Given the description of an element on the screen output the (x, y) to click on. 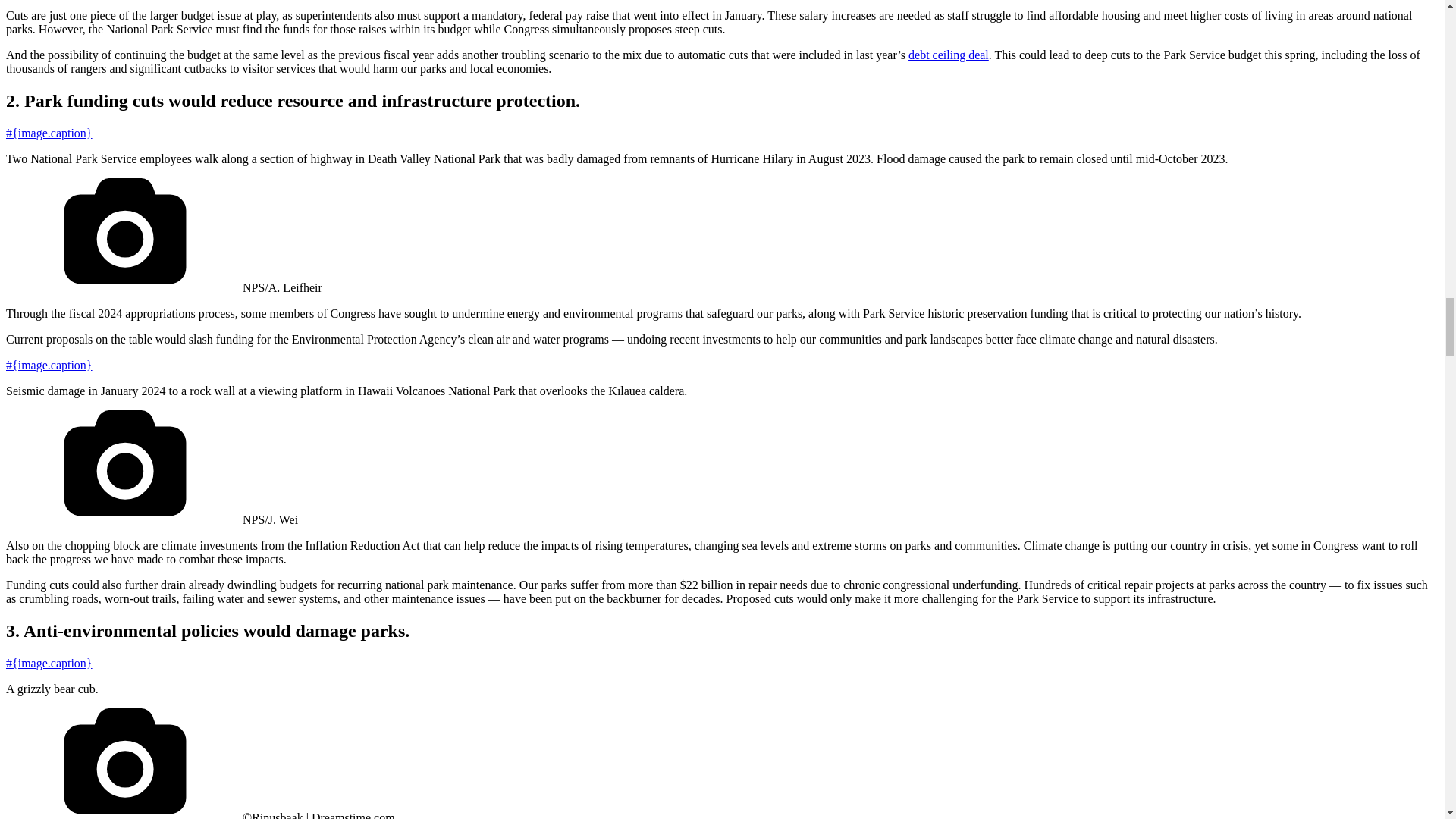
camera icon (125, 234)
camera icon (125, 467)
camera icon (125, 763)
